Given the description of an element on the screen output the (x, y) to click on. 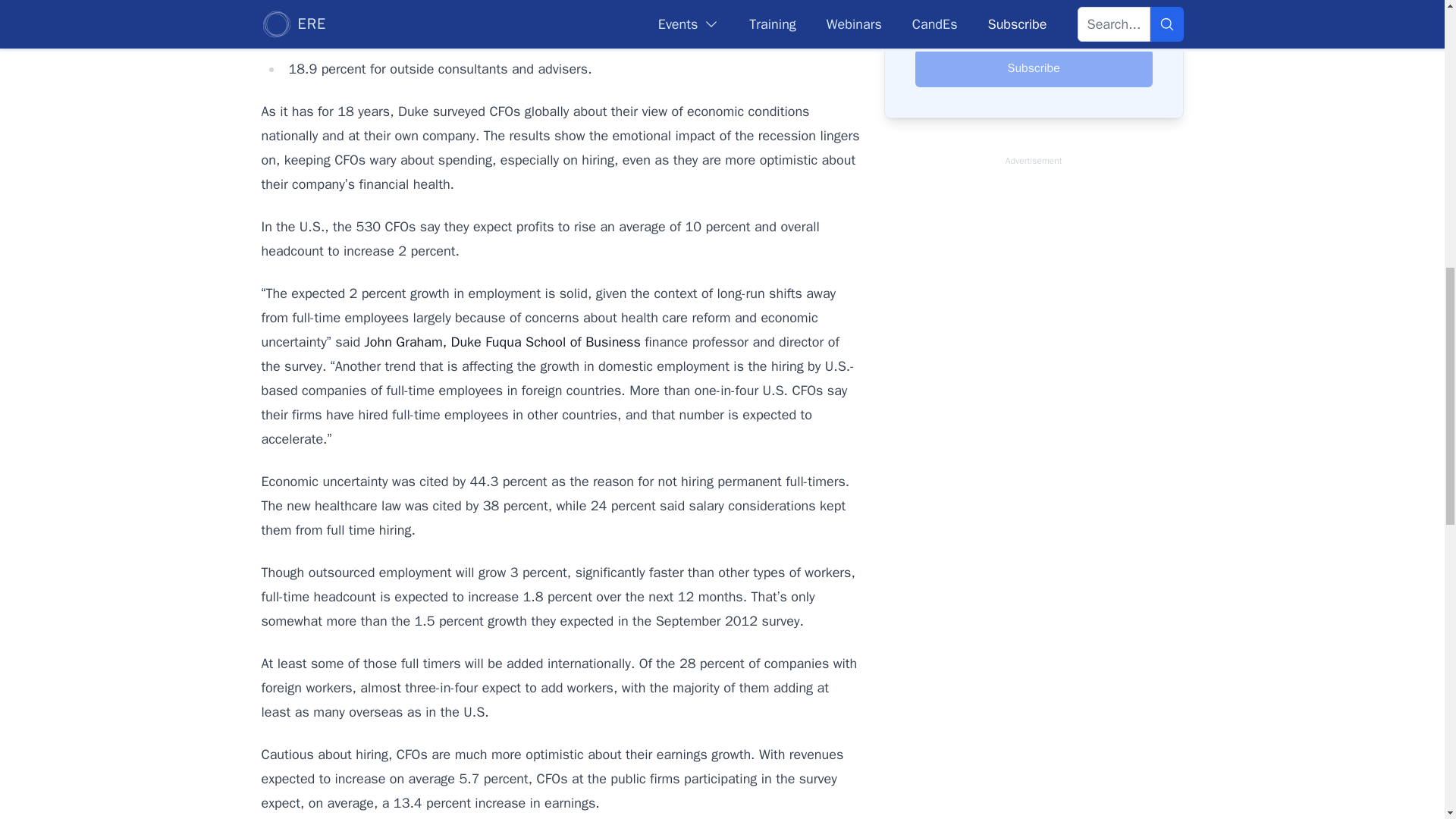
John Graham, Duke Fuqua School of Business (502, 341)
